Given the description of an element on the screen output the (x, y) to click on. 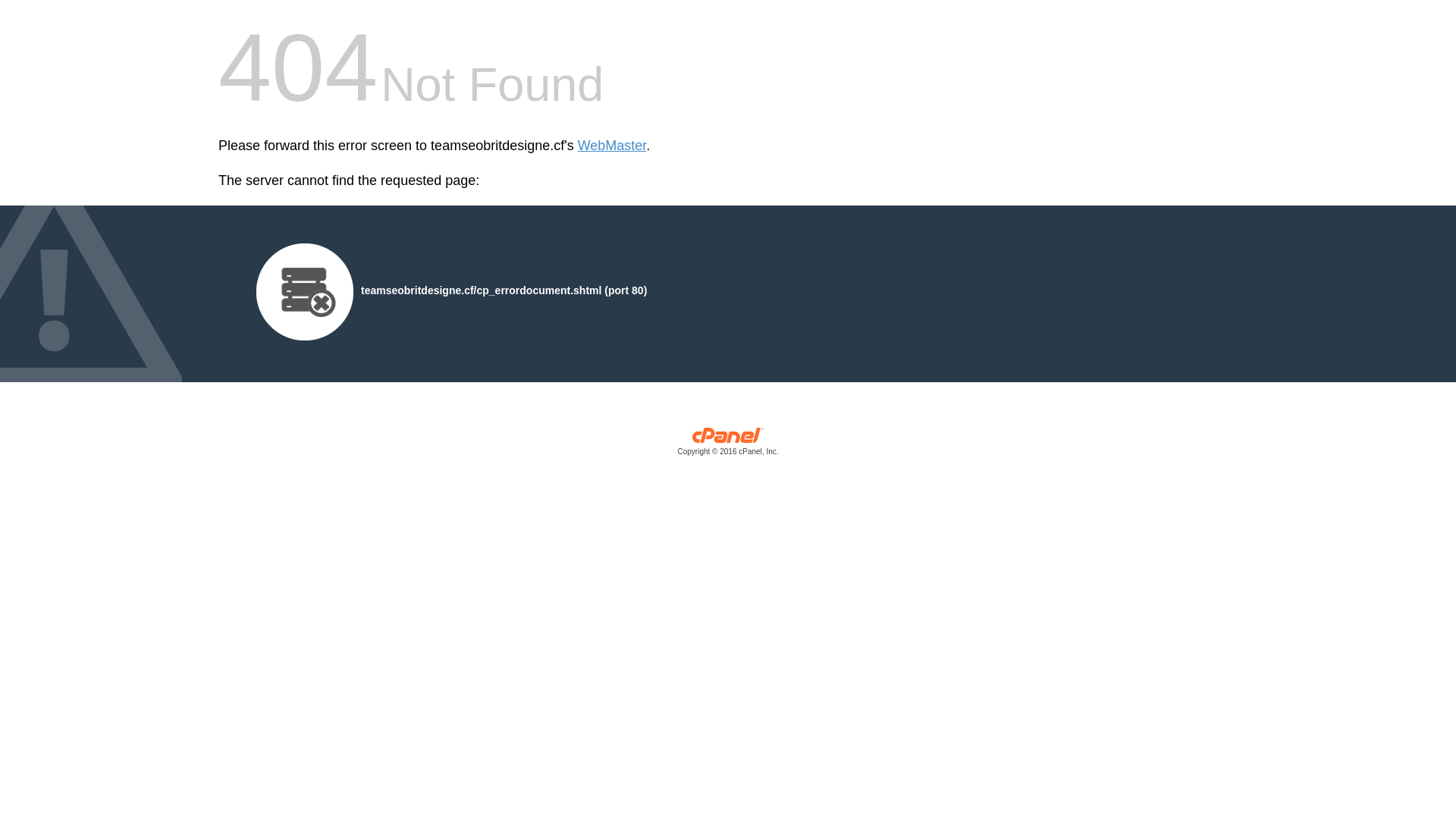
WebMaster Element type: text (611, 145)
